Given the description of an element on the screen output the (x, y) to click on. 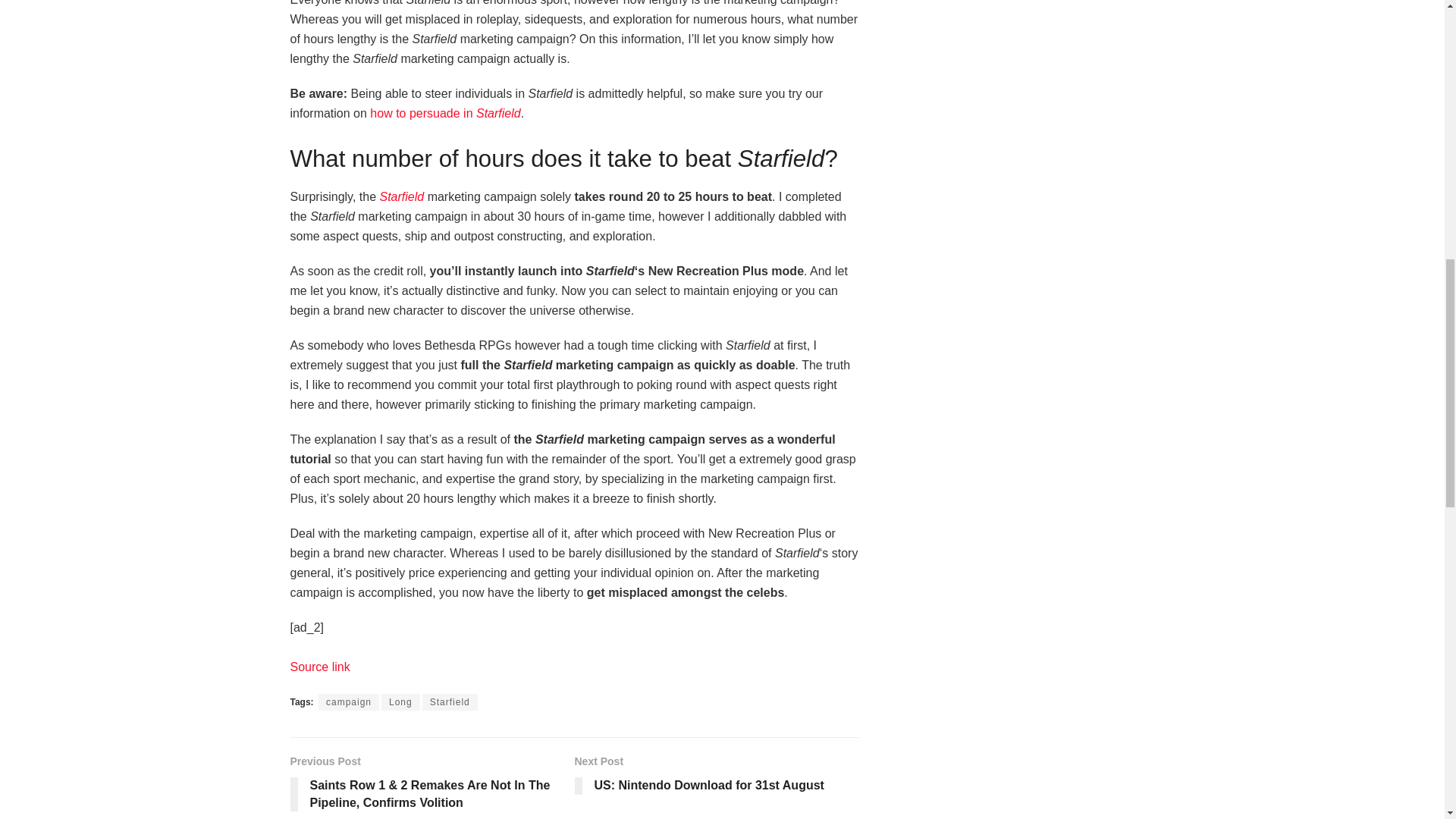
Starfield (449, 701)
Source link (319, 666)
Starfield (400, 196)
campaign (348, 701)
how to persuade in Starfield (717, 777)
Long (444, 113)
